Given the description of an element on the screen output the (x, y) to click on. 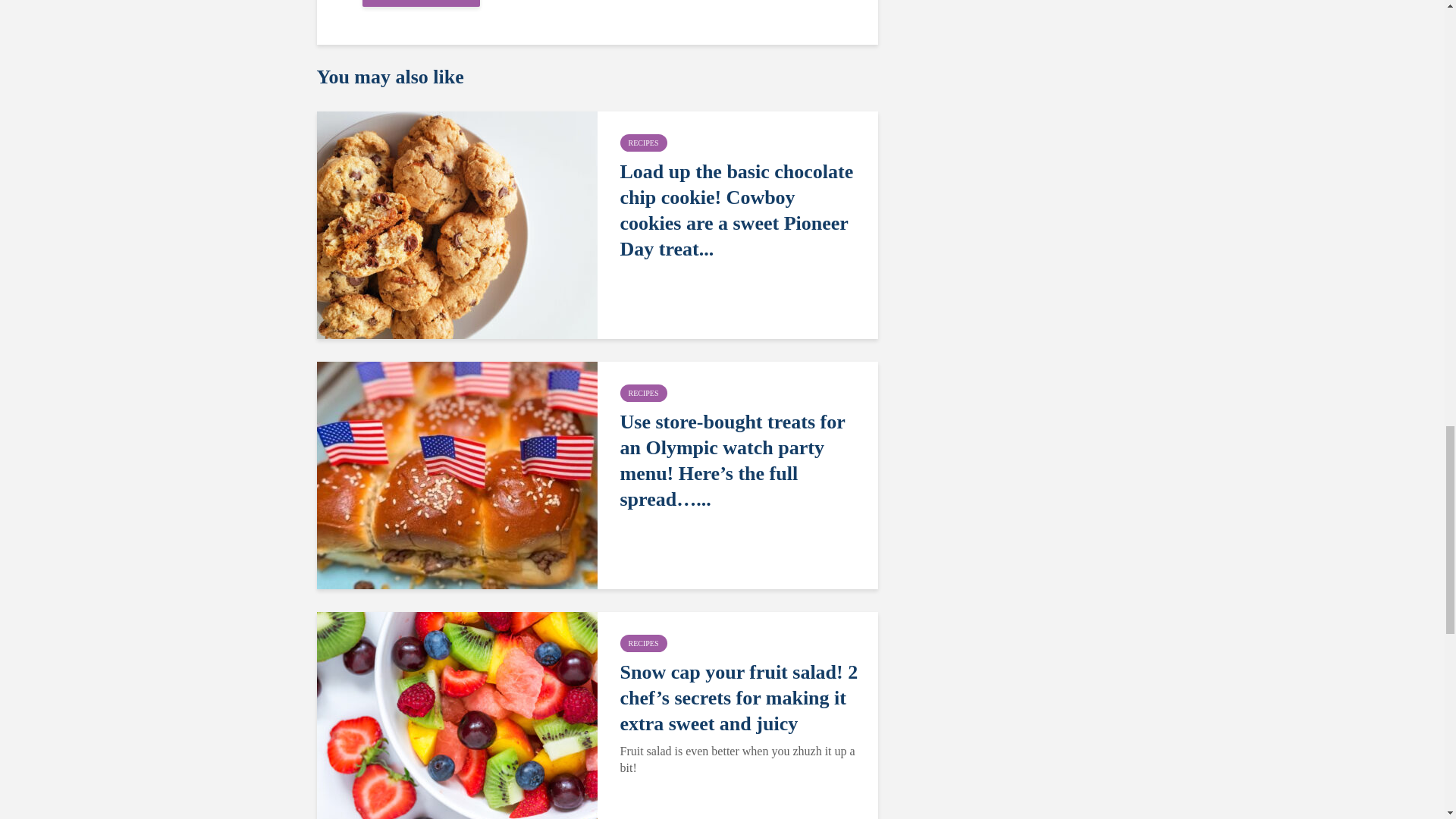
RECIPES (643, 142)
Submit Comment (421, 3)
RECIPES (643, 393)
RECIPES (643, 642)
Submit Comment (421, 3)
